Given the description of an element on the screen output the (x, y) to click on. 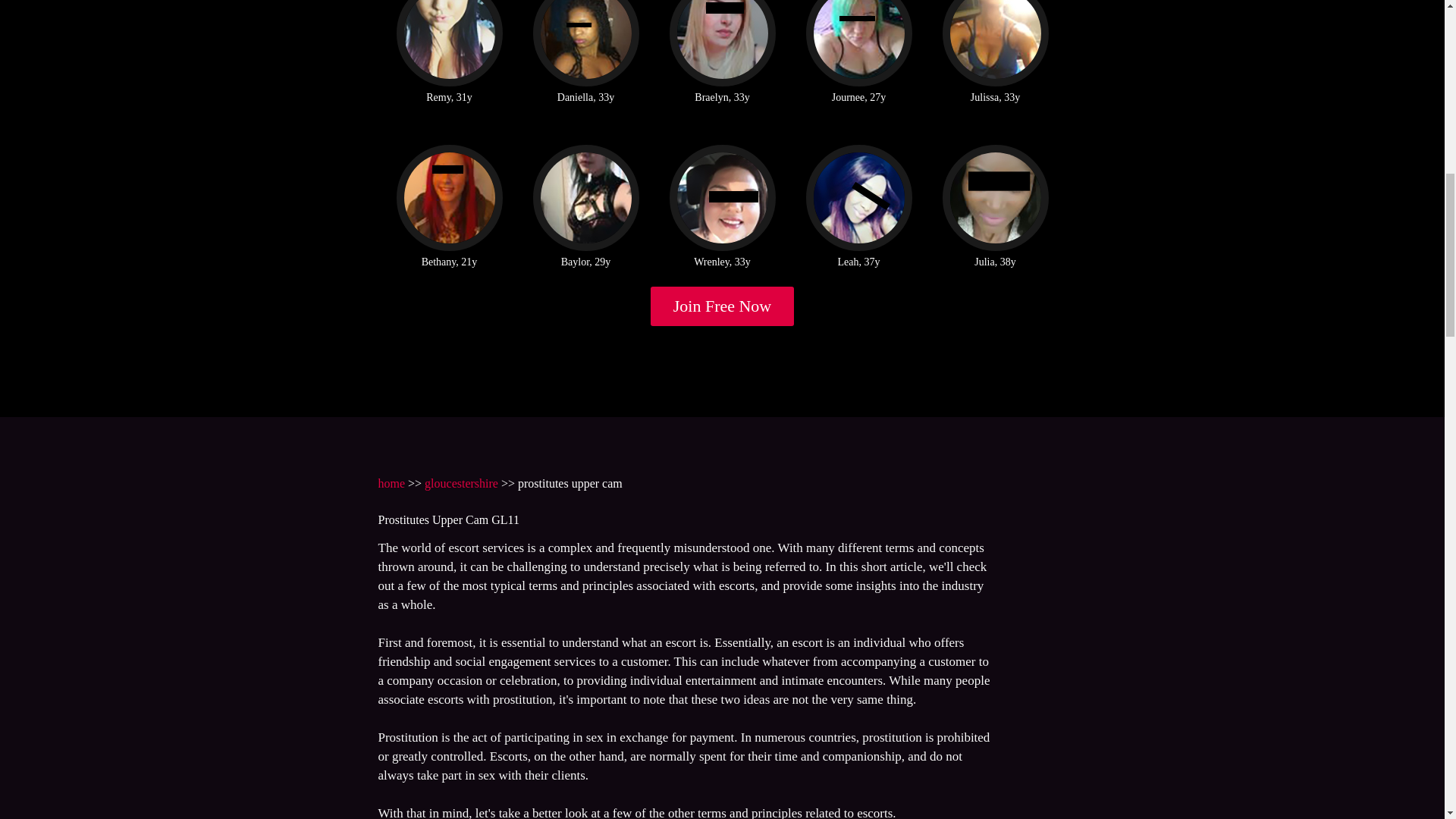
gloucestershire (461, 482)
home (390, 482)
Join Free Now (722, 305)
Join (722, 305)
